Given the description of an element on the screen output the (x, y) to click on. 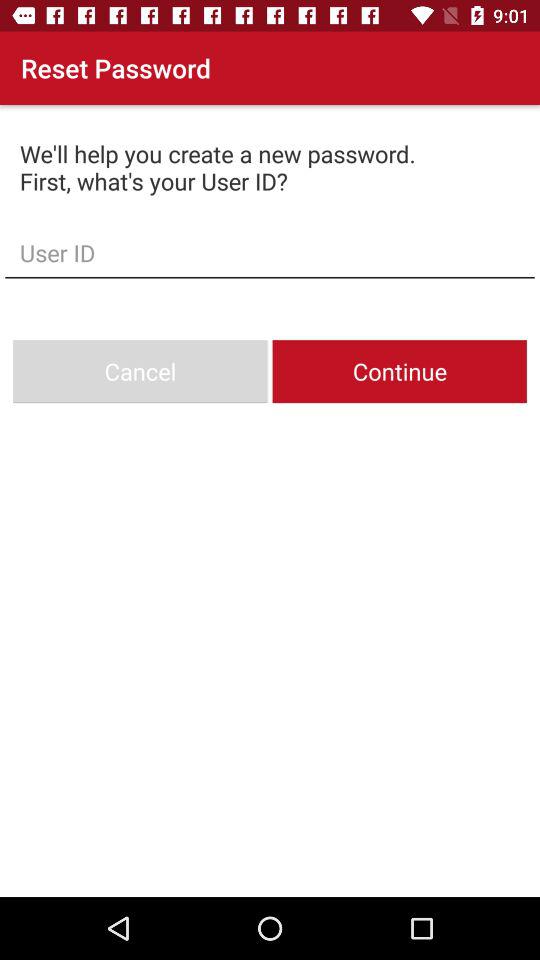
scroll until continue icon (399, 371)
